Given the description of an element on the screen output the (x, y) to click on. 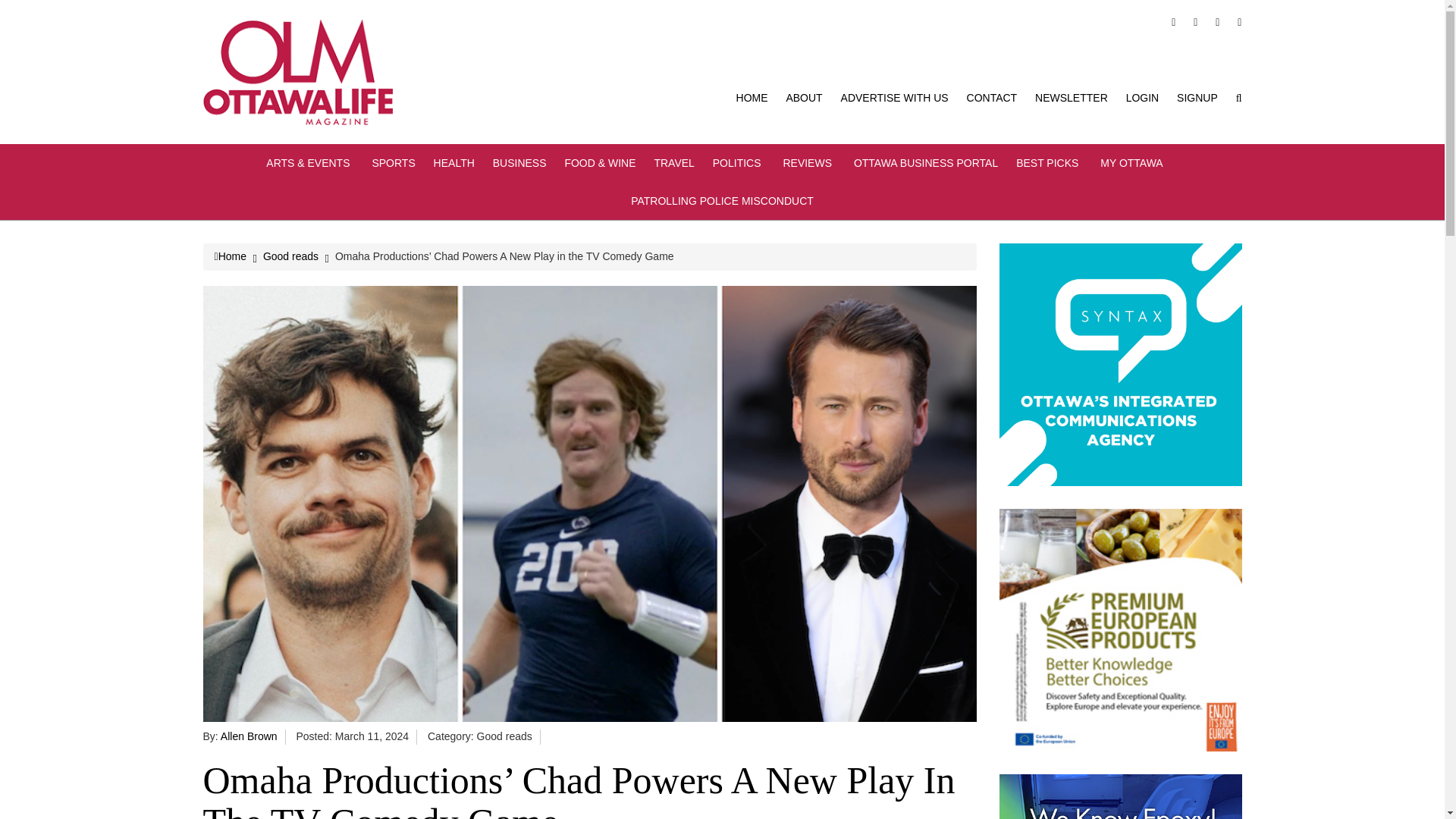
CONTACT (991, 97)
POLITICS (739, 162)
LOGIN (1141, 97)
ABOUT (804, 97)
REVIEWS (809, 162)
NEWSLETTER (1071, 97)
SIGNUP (1196, 97)
HEALTH (453, 162)
SPORTS (392, 162)
BUSINESS (520, 162)
OTTAWA BUSINESS PORTAL (925, 162)
TRAVEL (673, 162)
HOME (752, 97)
ADVERTISE WITH US (895, 97)
BEST PICKS (1048, 162)
